Given the description of an element on the screen output the (x, y) to click on. 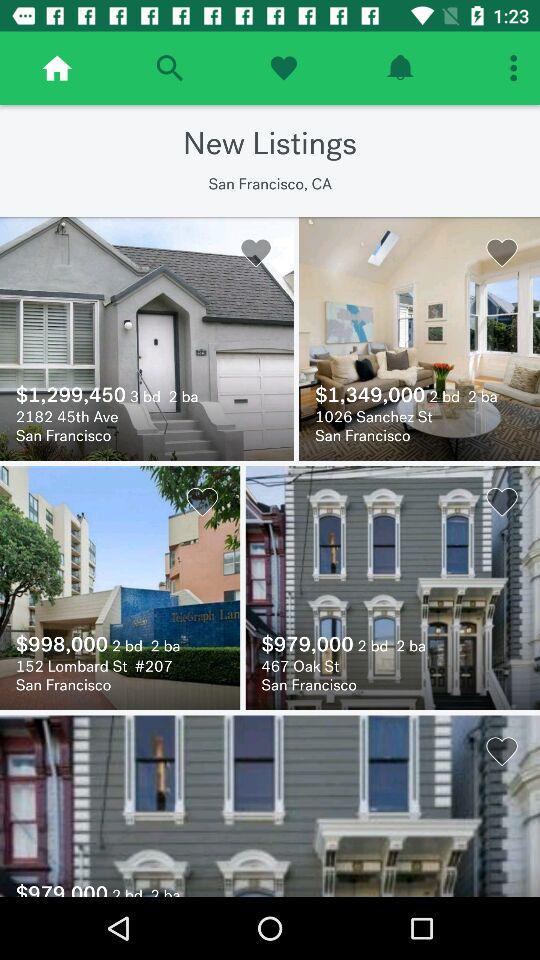
go to home (57, 68)
